Given the description of an element on the screen output the (x, y) to click on. 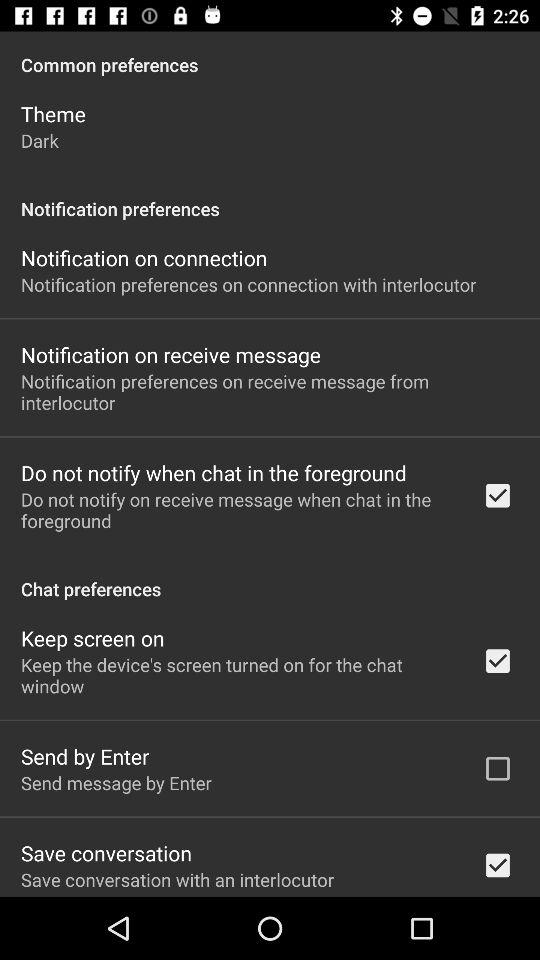
scroll to chat preferences item (270, 578)
